Given the description of an element on the screen output the (x, y) to click on. 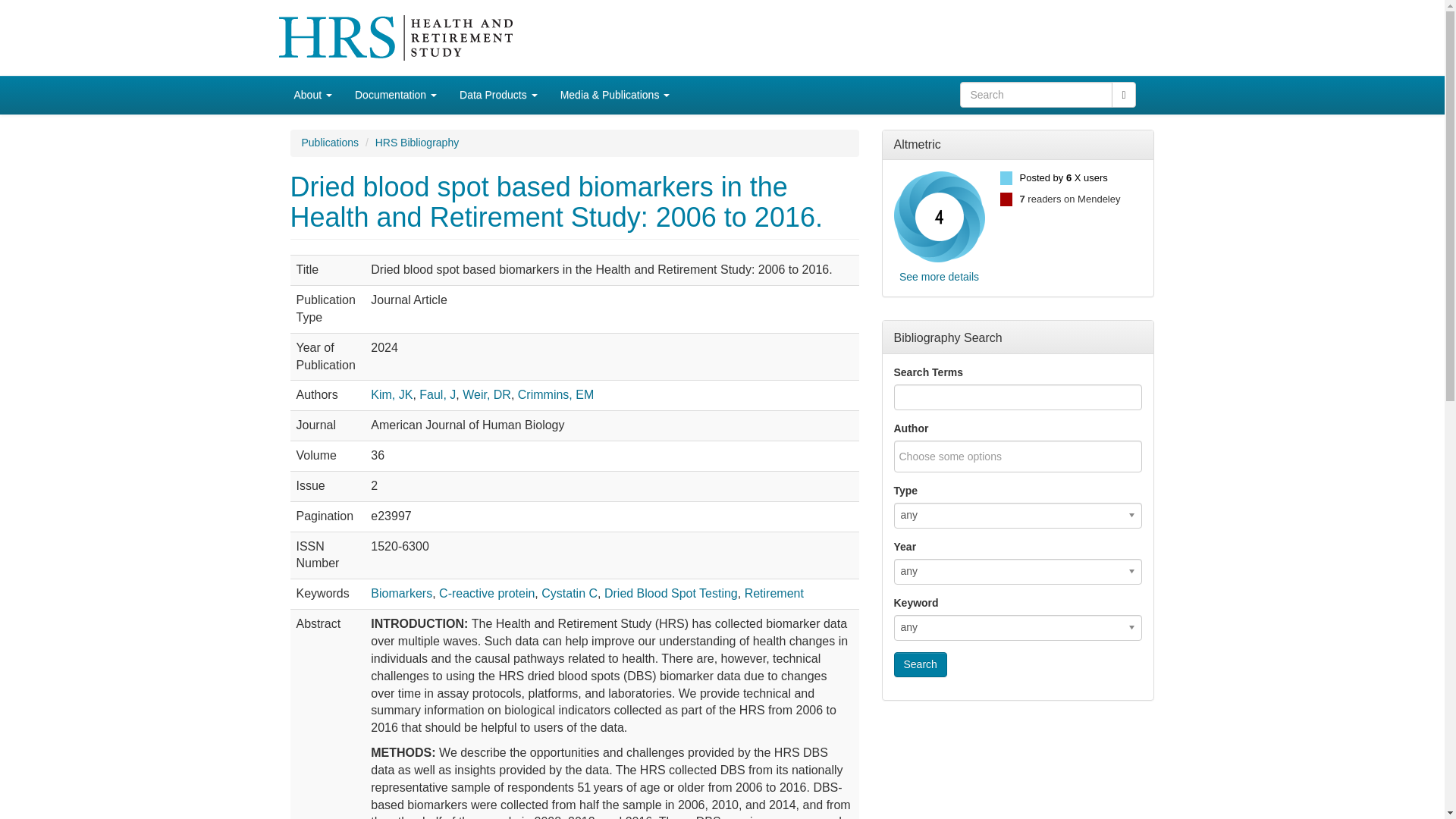
Data Products (498, 94)
Documentation (395, 94)
Choose some options (959, 456)
About (312, 94)
